Given the description of an element on the screen output the (x, y) to click on. 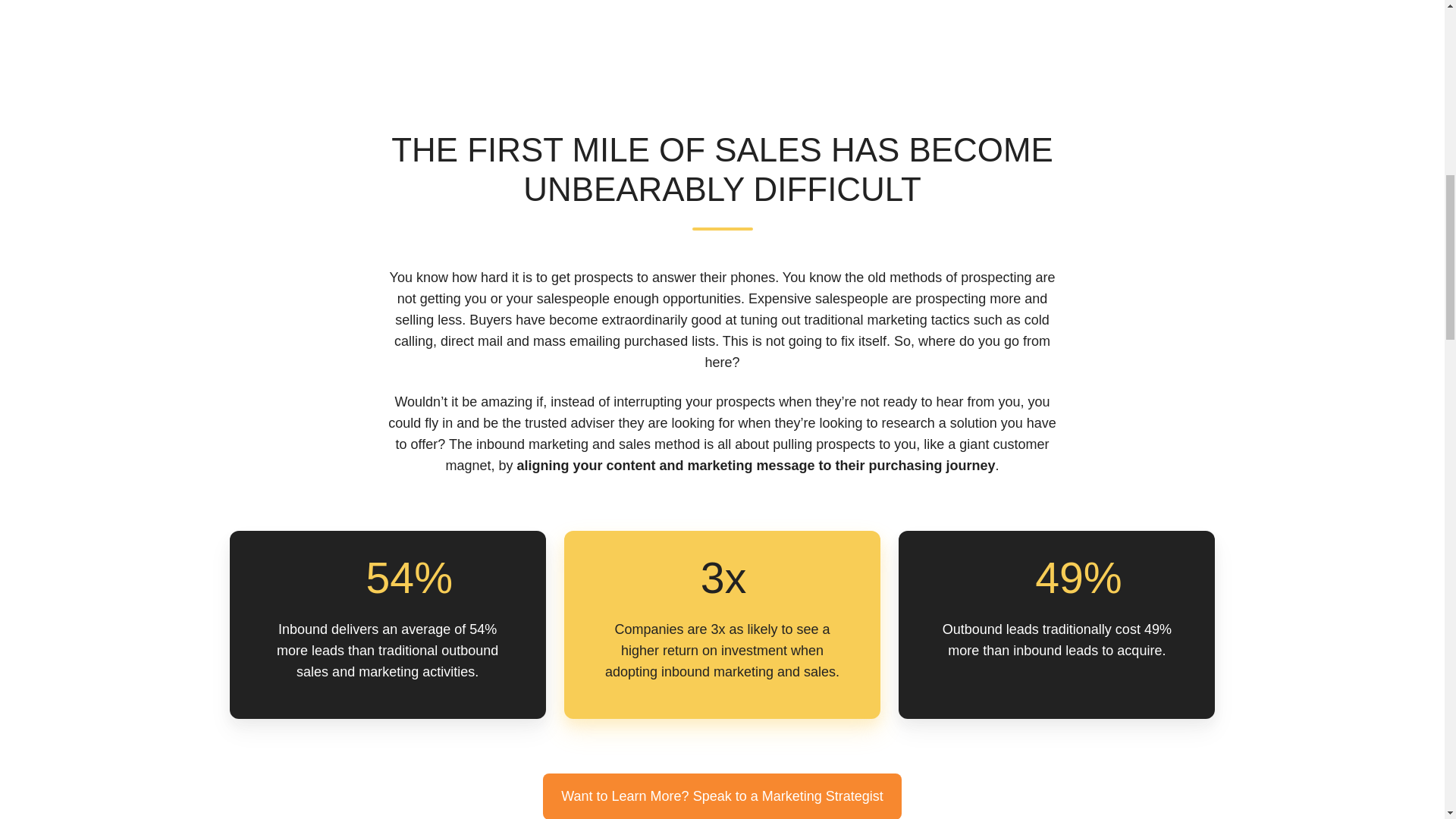
Want to Learn More? Speak to a Marketing Strategist (722, 796)
